Given the description of an element on the screen output the (x, y) to click on. 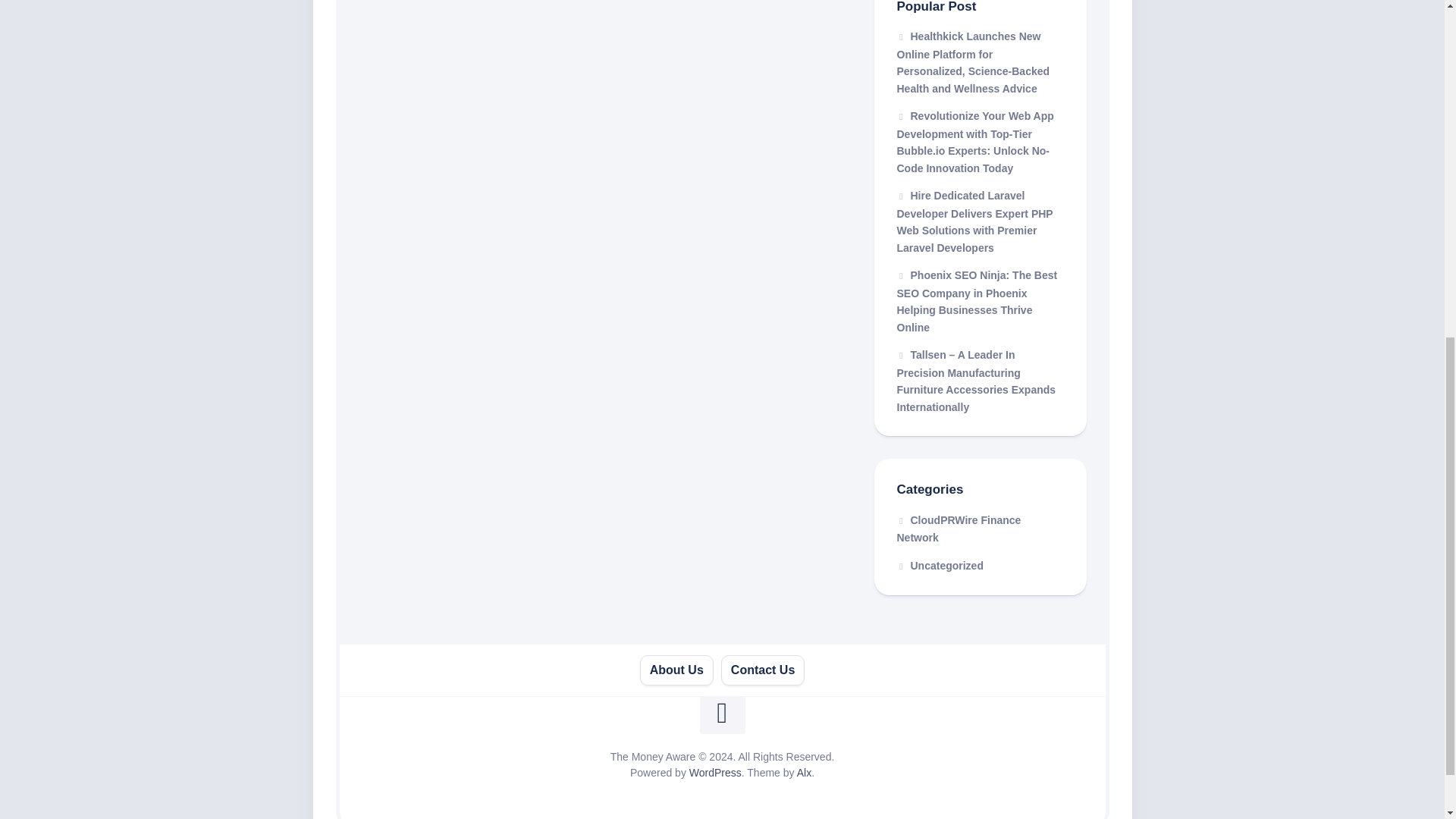
Uncategorized (939, 565)
Alx (803, 772)
Contact Us (762, 669)
WordPress (714, 772)
CloudPRWire Finance Network (958, 529)
About Us (676, 669)
